Given the description of an element on the screen output the (x, y) to click on. 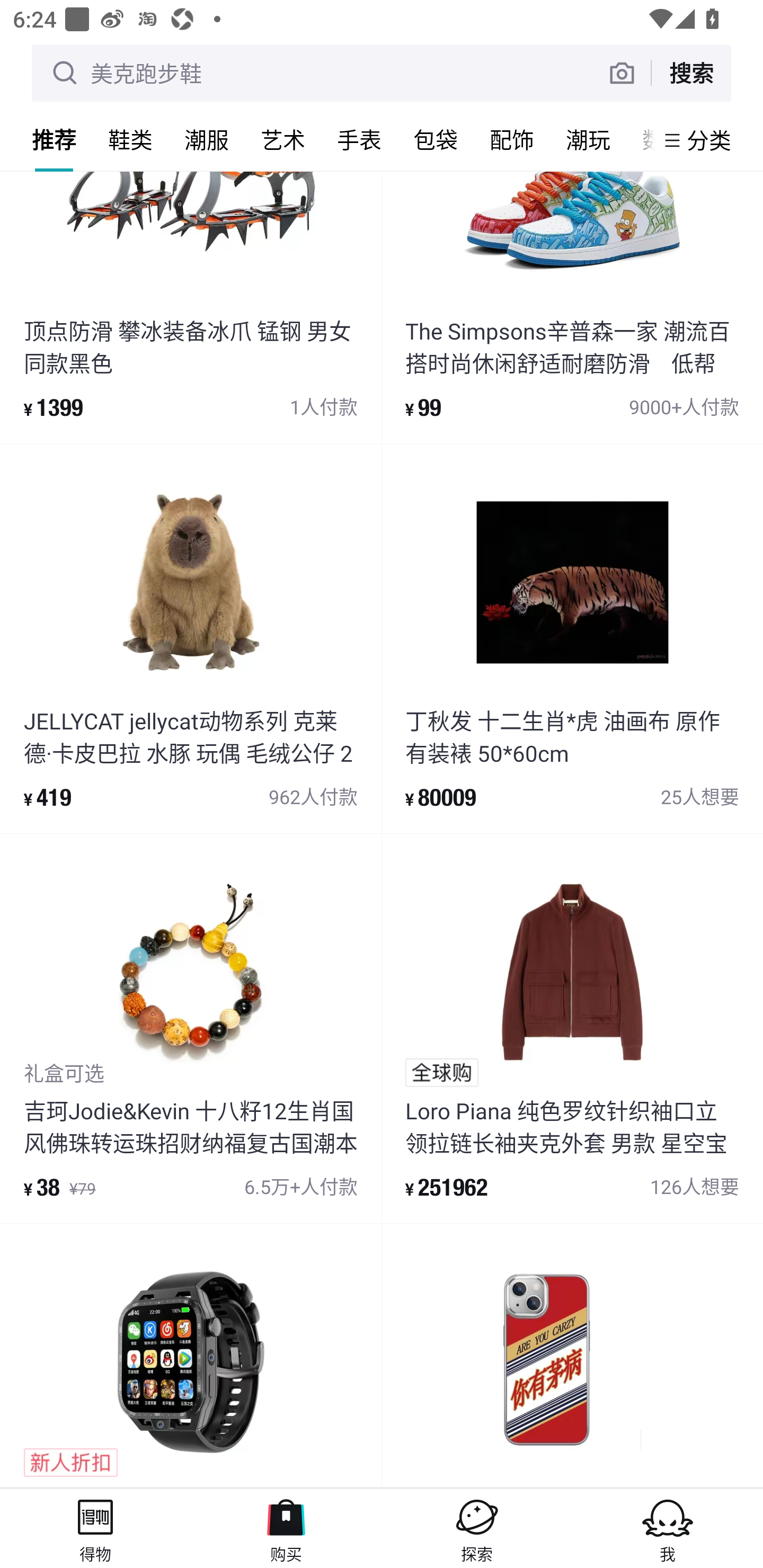
美克跑步鞋 搜索 (381, 72)
搜索 (690, 72)
推荐 (54, 139)
鞋类 (130, 139)
潮服 (206, 139)
艺术 (282, 139)
手表 (359, 139)
包袋 (435, 139)
配饰 (511, 139)
潮玩 (588, 139)
分类 (708, 139)
product_item 顶点防滑 攀冰装备冰爪 锰钢 男女
同款黑色 ¥ 1399 1人付款 (190, 306)
得物 (95, 1528)
购买 (285, 1528)
探索 (476, 1528)
我 (667, 1528)
